Given the description of an element on the screen output the (x, y) to click on. 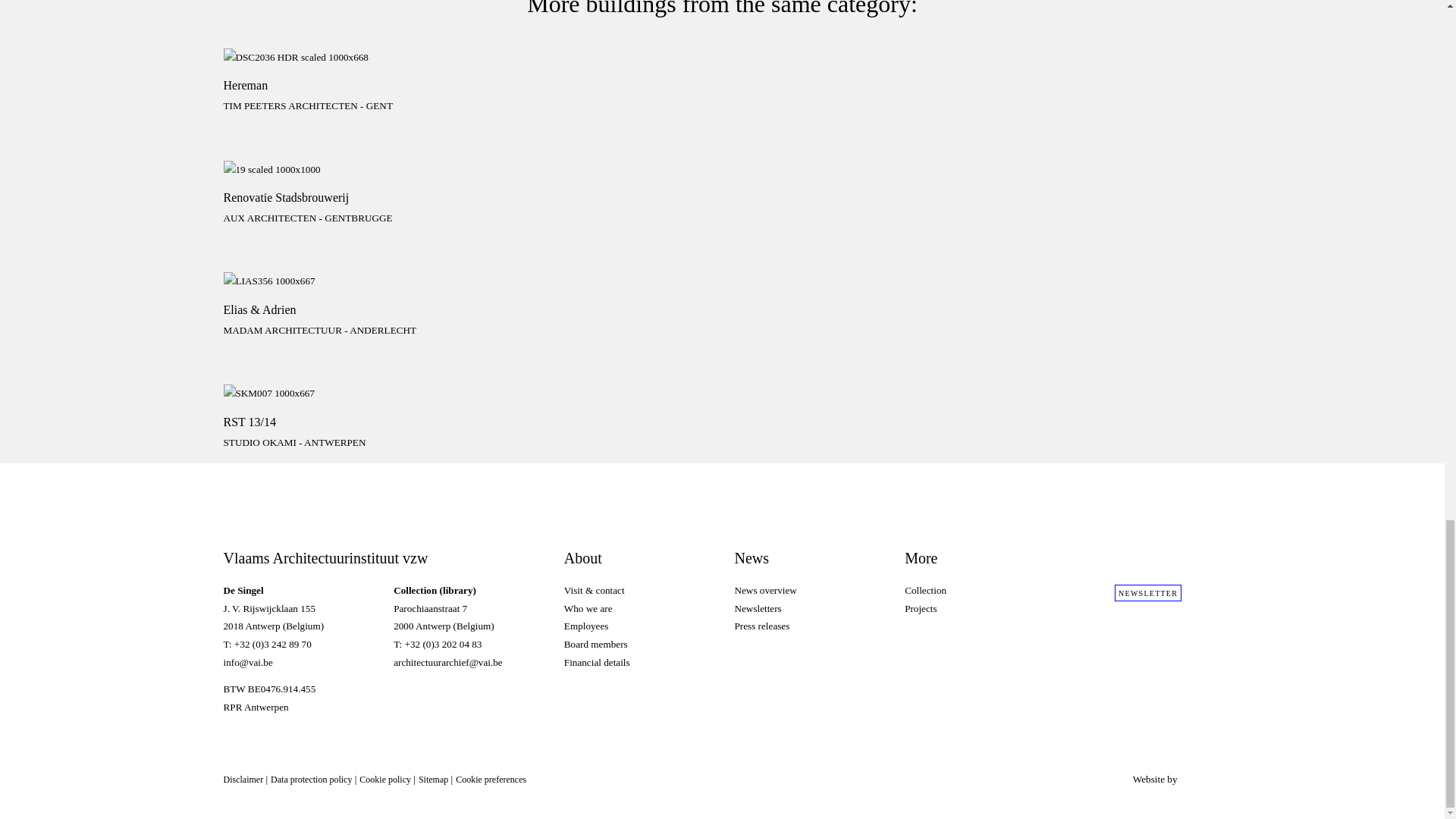
LIAS356 1000x667 (334, 280)
Financial details (334, 199)
19 scaled 1000x1000 (637, 662)
Who we are (334, 169)
DSC2036 HDR scaled 1000x668 (637, 608)
Board members (334, 57)
SKM007 1000x667 (334, 87)
Employees (637, 644)
